Given the description of an element on the screen output the (x, y) to click on. 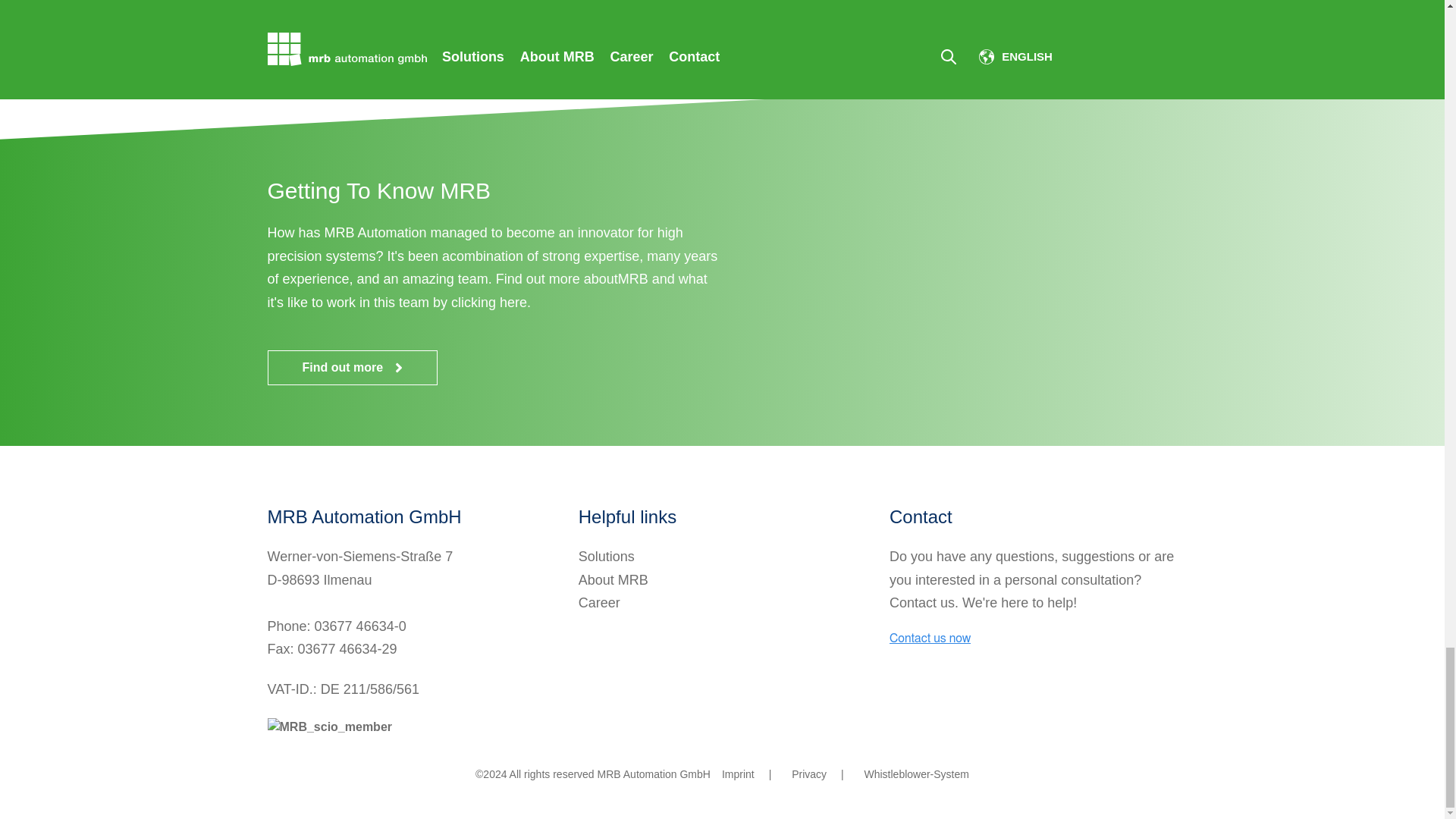
03677 46634-0 (360, 626)
Privacy (809, 774)
Career (599, 602)
About MRB (612, 580)
Whistleblower-System (915, 774)
Find out more (352, 367)
Solutions (606, 556)
Imprint (738, 774)
